Given the description of an element on the screen output the (x, y) to click on. 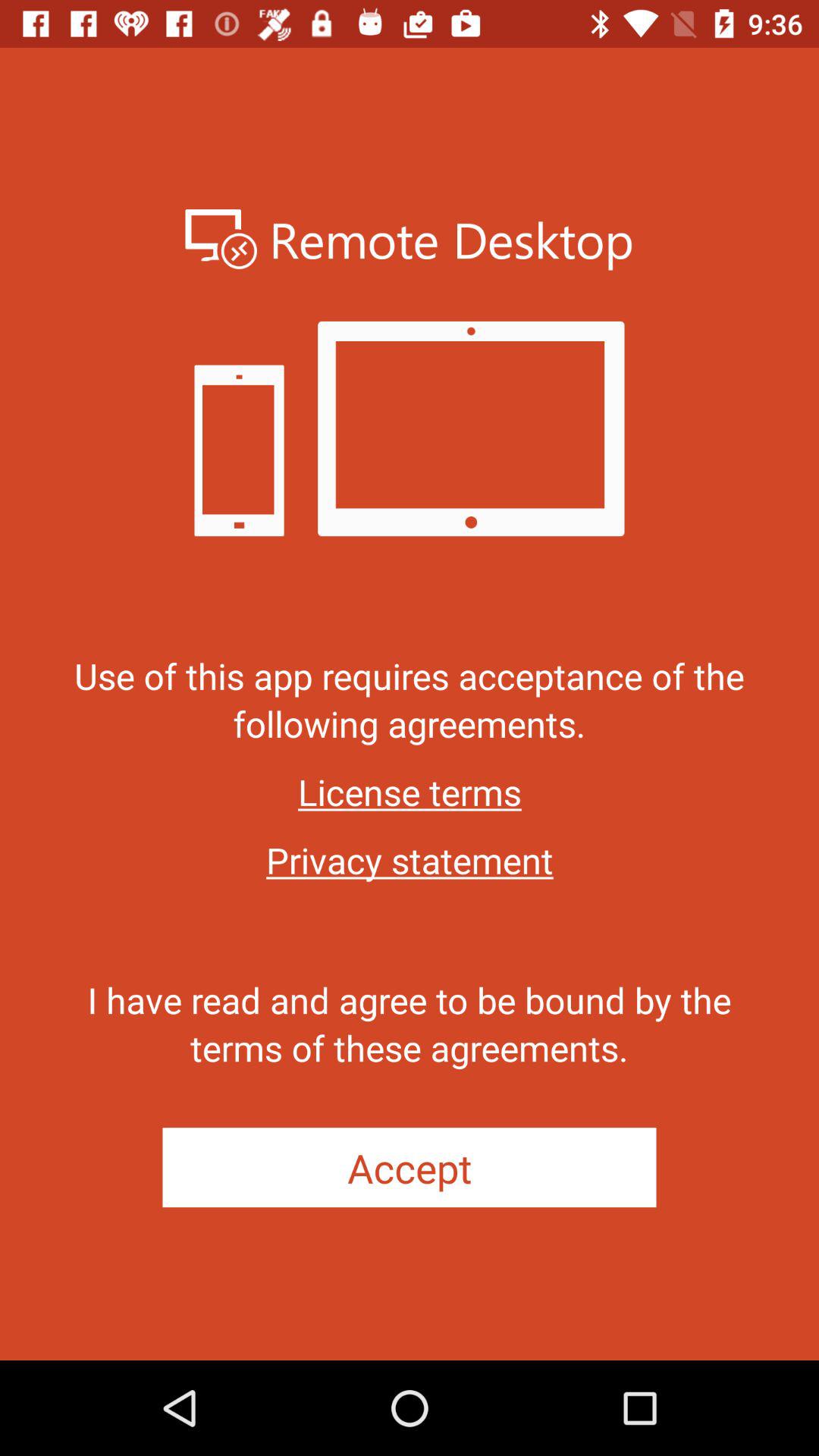
turn off the icon above the i have read (409, 860)
